Given the description of an element on the screen output the (x, y) to click on. 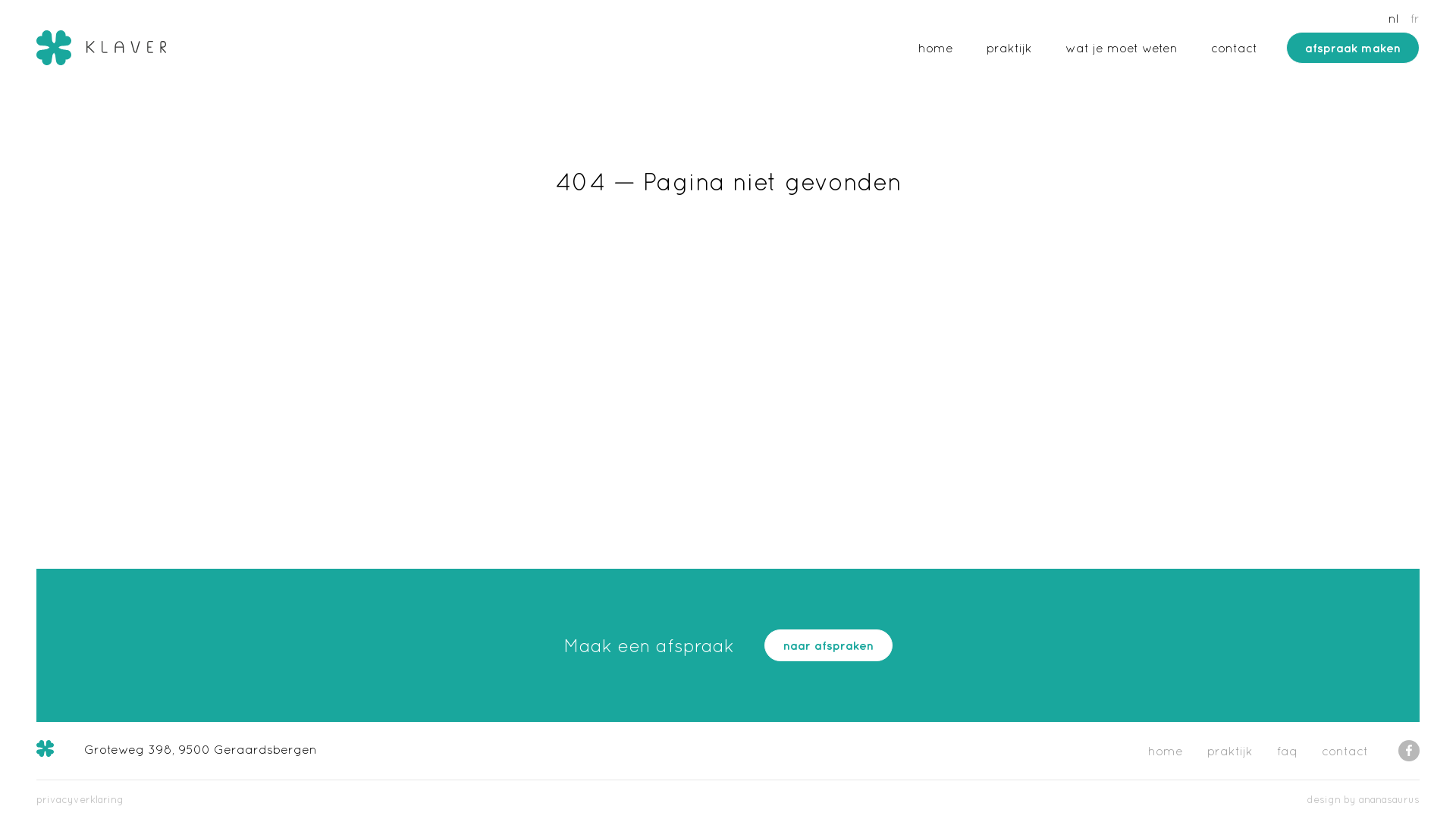
praktijk Element type: text (1229, 750)
praktijk Element type: text (1008, 47)
faq Element type: text (1286, 750)
contact Element type: text (1227, 47)
home Element type: text (941, 47)
contact Element type: text (1338, 750)
wat je moet weten Element type: text (1121, 47)
naar afspraken Element type: text (828, 645)
privacyverklaring Element type: text (79, 798)
home Element type: text (1171, 750)
afspraak maken Element type: text (1352, 47)
fr Element type: text (1414, 18)
nl Element type: text (1393, 18)
